Given the description of an element on the screen output the (x, y) to click on. 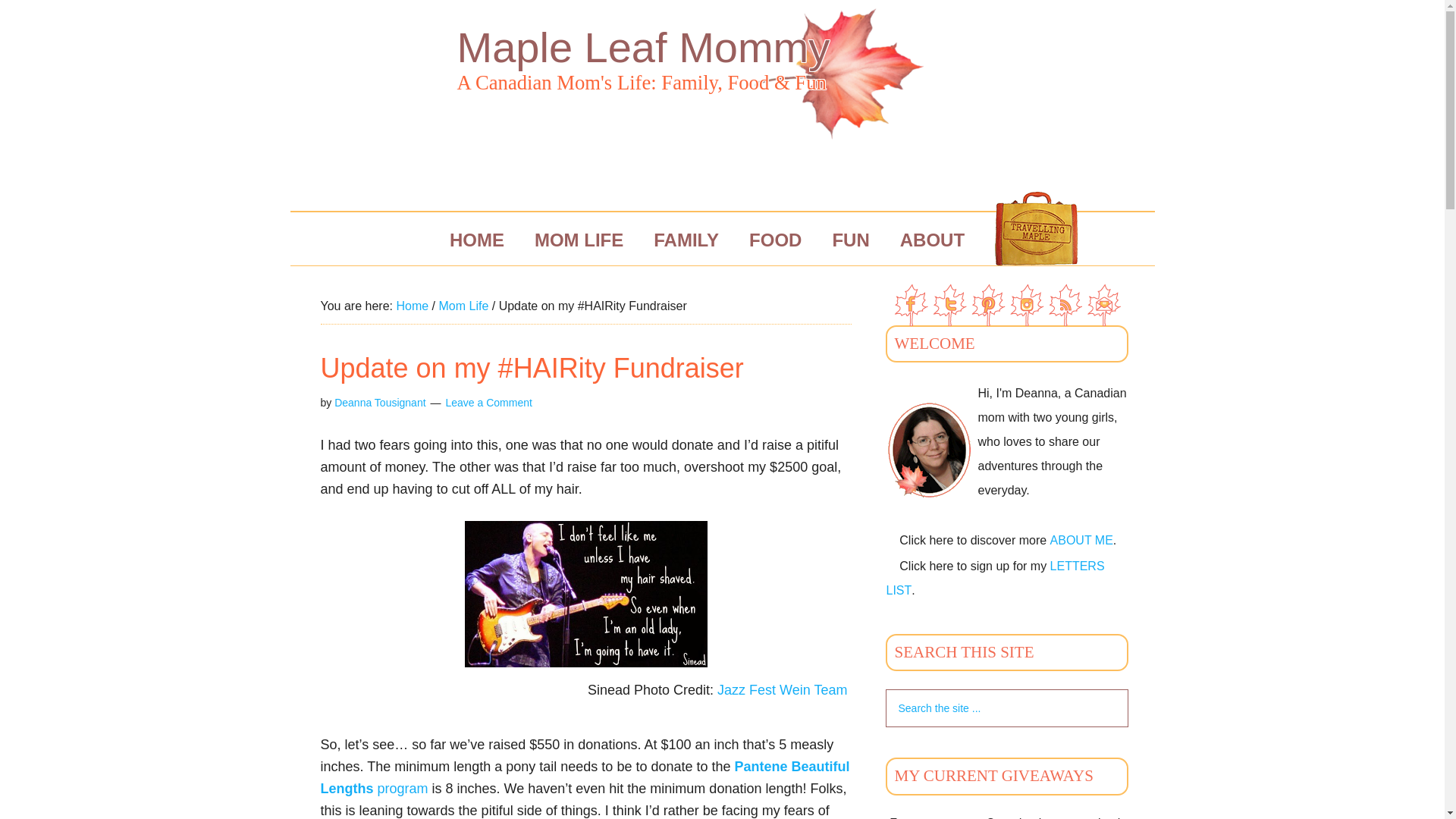
MOM LIFE (579, 240)
FAMILY (686, 240)
Deanna Tousignant (379, 402)
Home (412, 305)
FOOD (774, 240)
FUN (849, 240)
Jazz Fest Wein Team  (783, 689)
Pantene Beautiful Lengths program (584, 777)
